Given the description of an element on the screen output the (x, y) to click on. 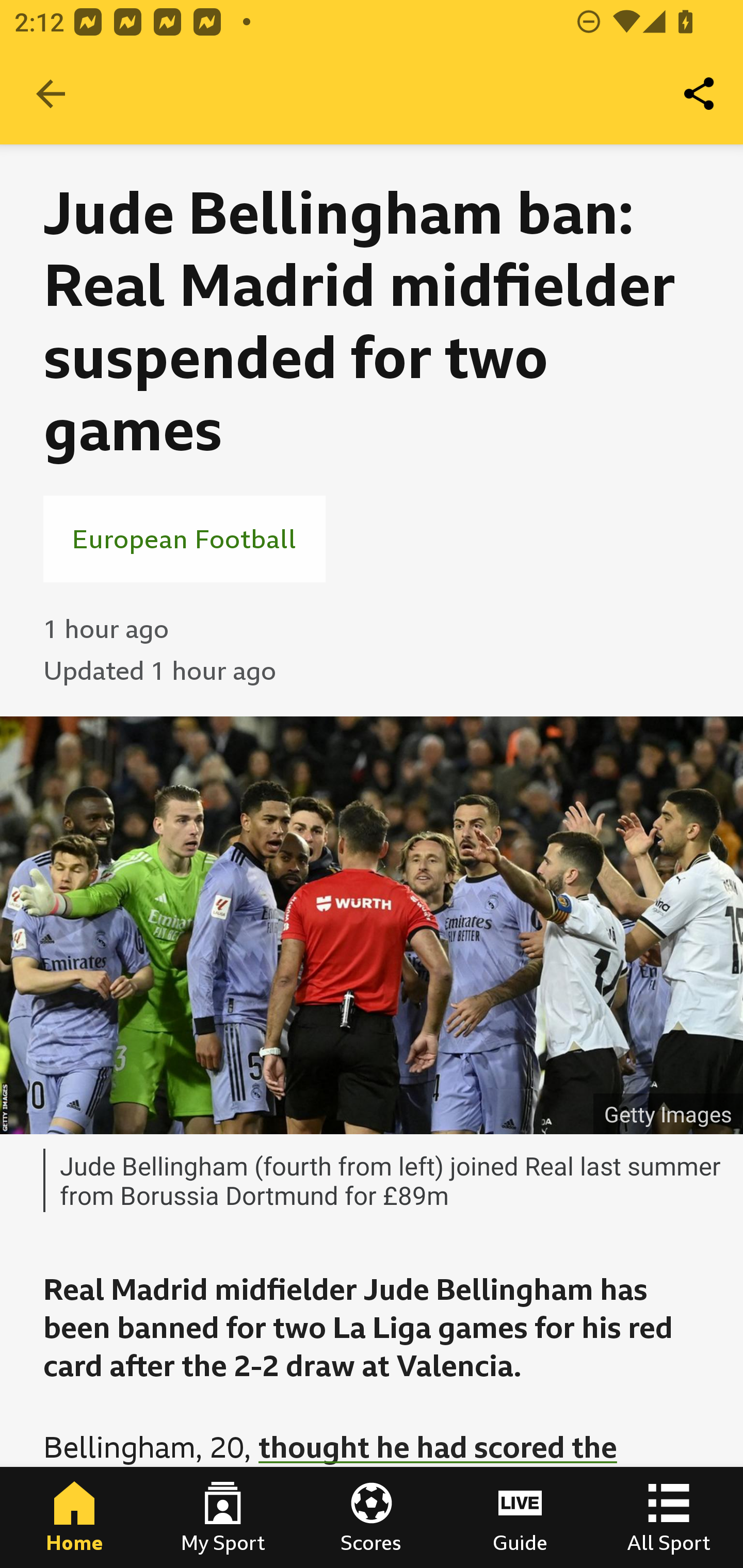
Navigate up (50, 93)
Share (699, 93)
European Football (184, 538)
My Sport (222, 1517)
Scores (371, 1517)
Guide (519, 1517)
All Sport (668, 1517)
